Given the description of an element on the screen output the (x, y) to click on. 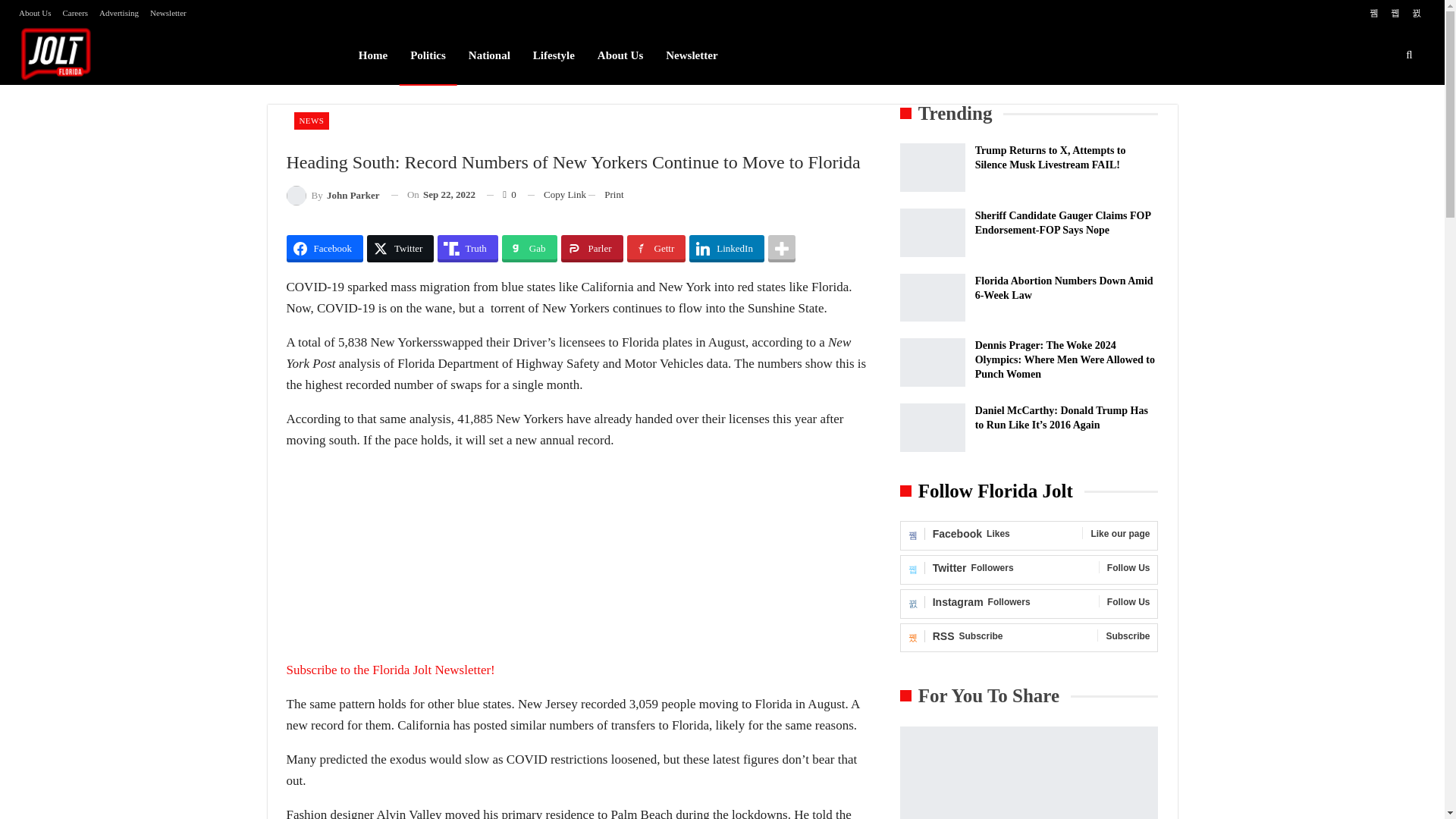
Share on Gettr (656, 248)
Parler (591, 248)
About Us (619, 55)
By John Parker (333, 195)
Share on Gab (529, 248)
Print (613, 194)
Browse Author Articles (333, 195)
National (489, 55)
Newsletter (691, 55)
Truth (467, 248)
